Given the description of an element on the screen output the (x, y) to click on. 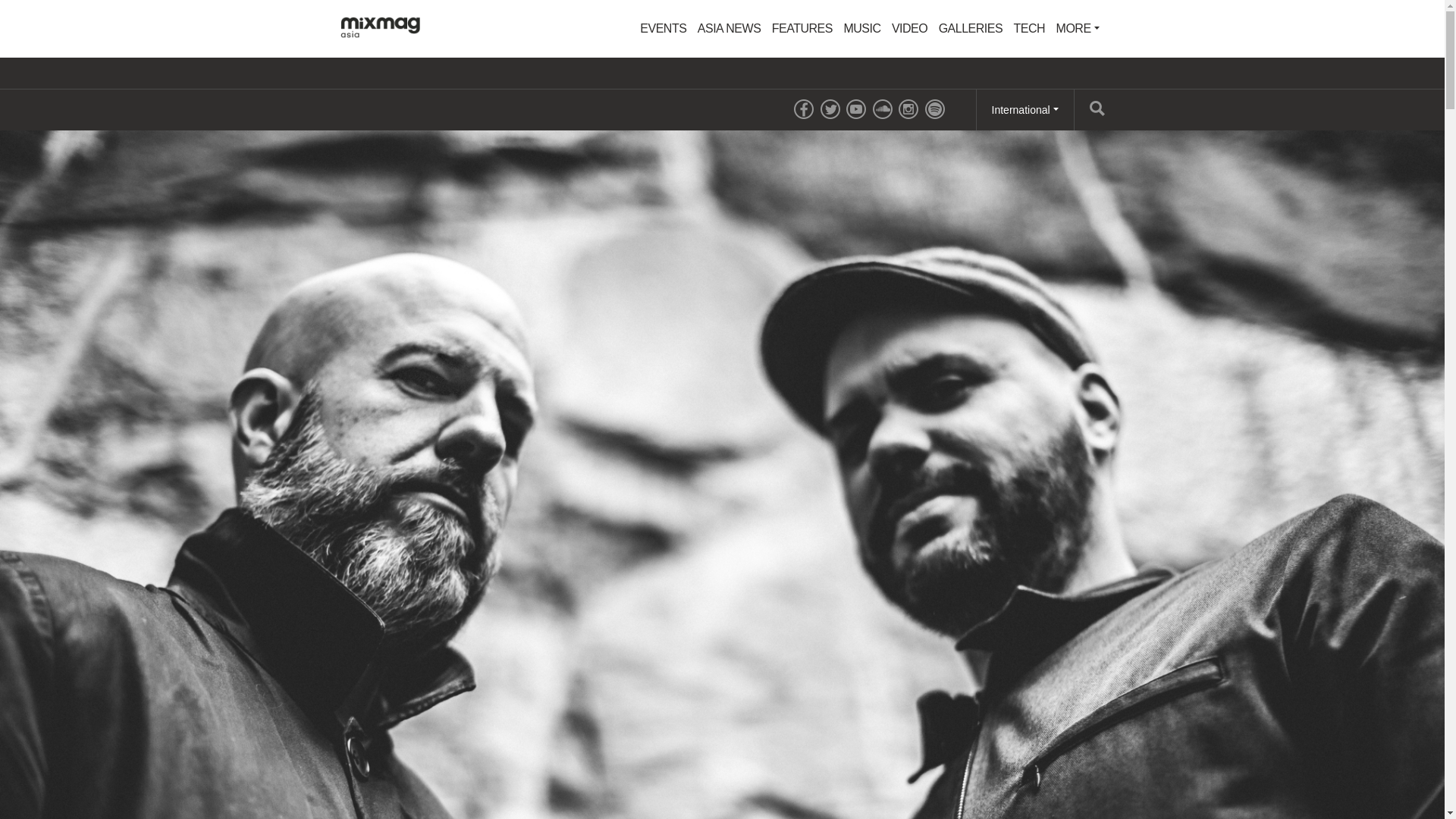
GALLERIES (970, 28)
ASIA NEWS (730, 28)
EVENTS (662, 28)
MORE (1078, 28)
FEATURES (802, 28)
